Given the description of an element on the screen output the (x, y) to click on. 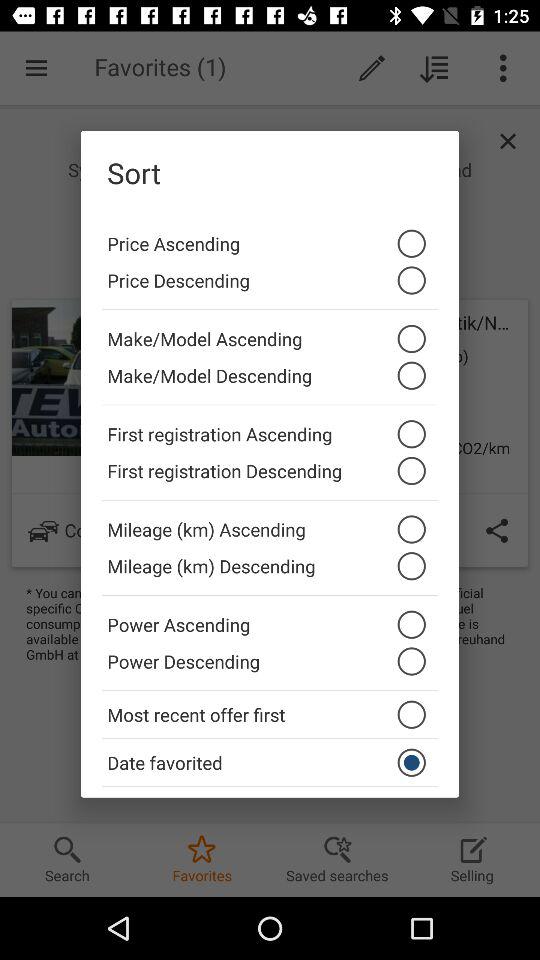
swipe until the power descending (269, 666)
